Given the description of an element on the screen output the (x, y) to click on. 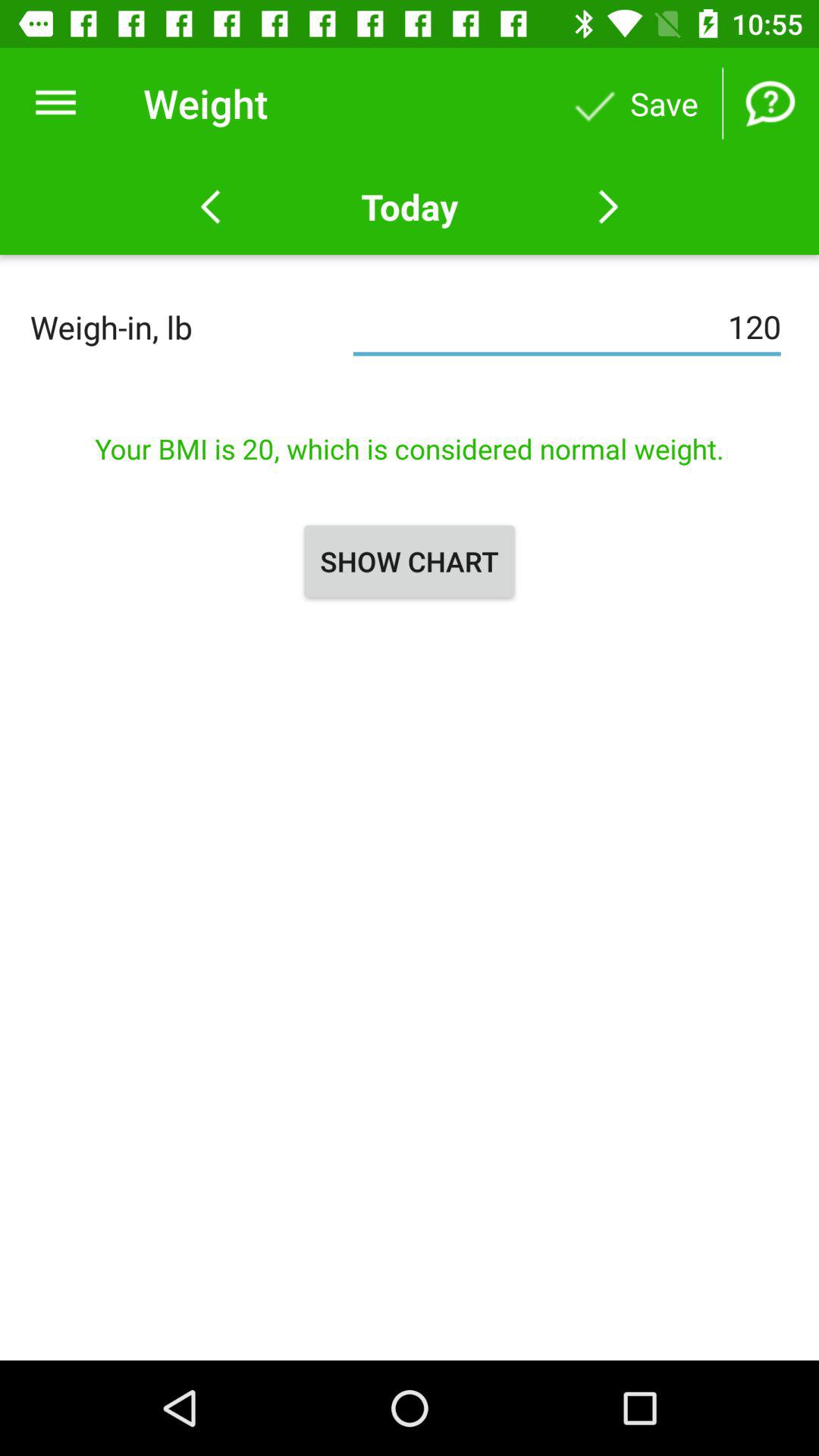
open the item below your bmi is icon (409, 561)
